Given the description of an element on the screen output the (x, y) to click on. 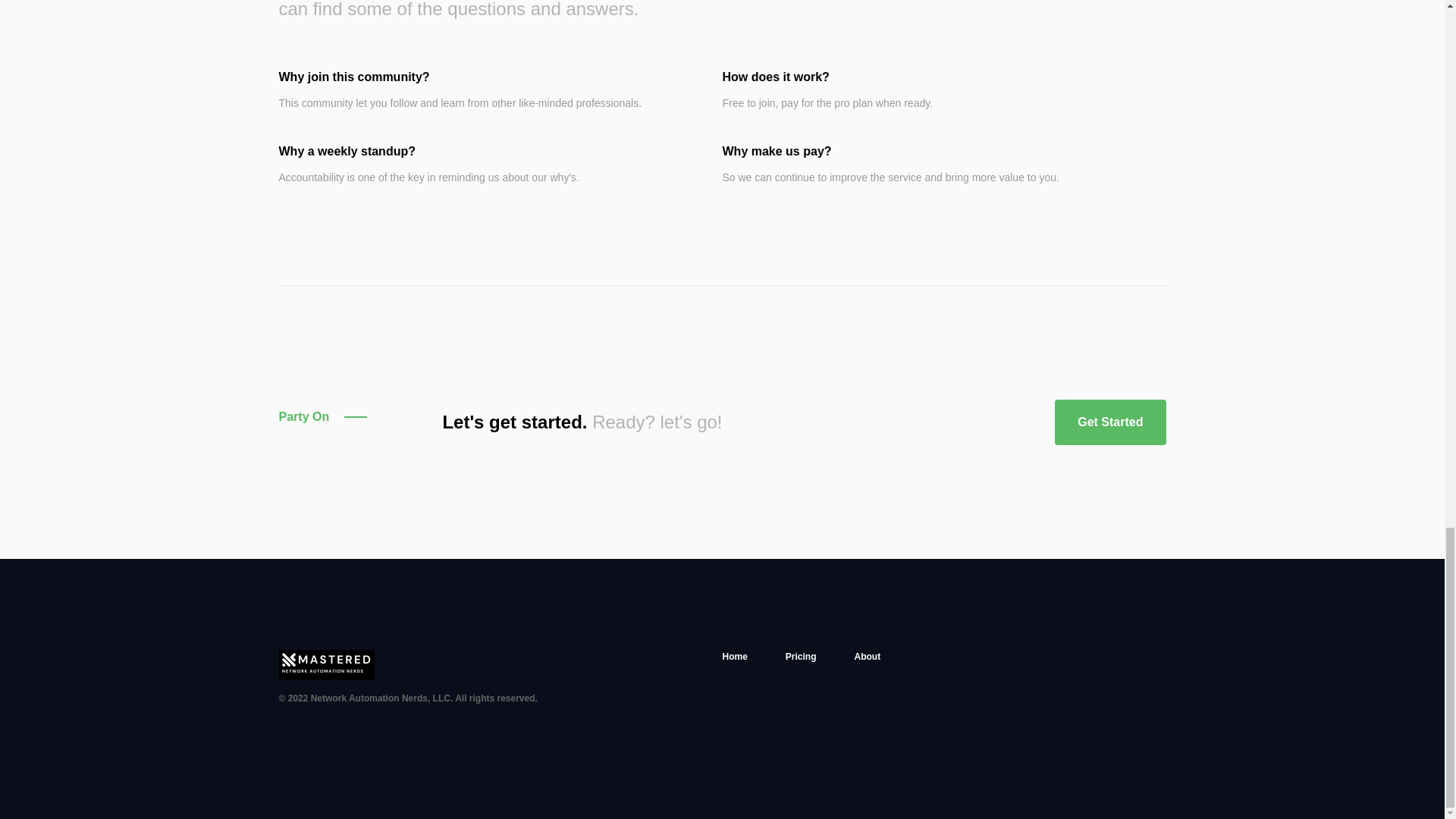
Pricing (801, 656)
Get Started (1110, 422)
Home (734, 656)
About (867, 656)
